Given the description of an element on the screen output the (x, y) to click on. 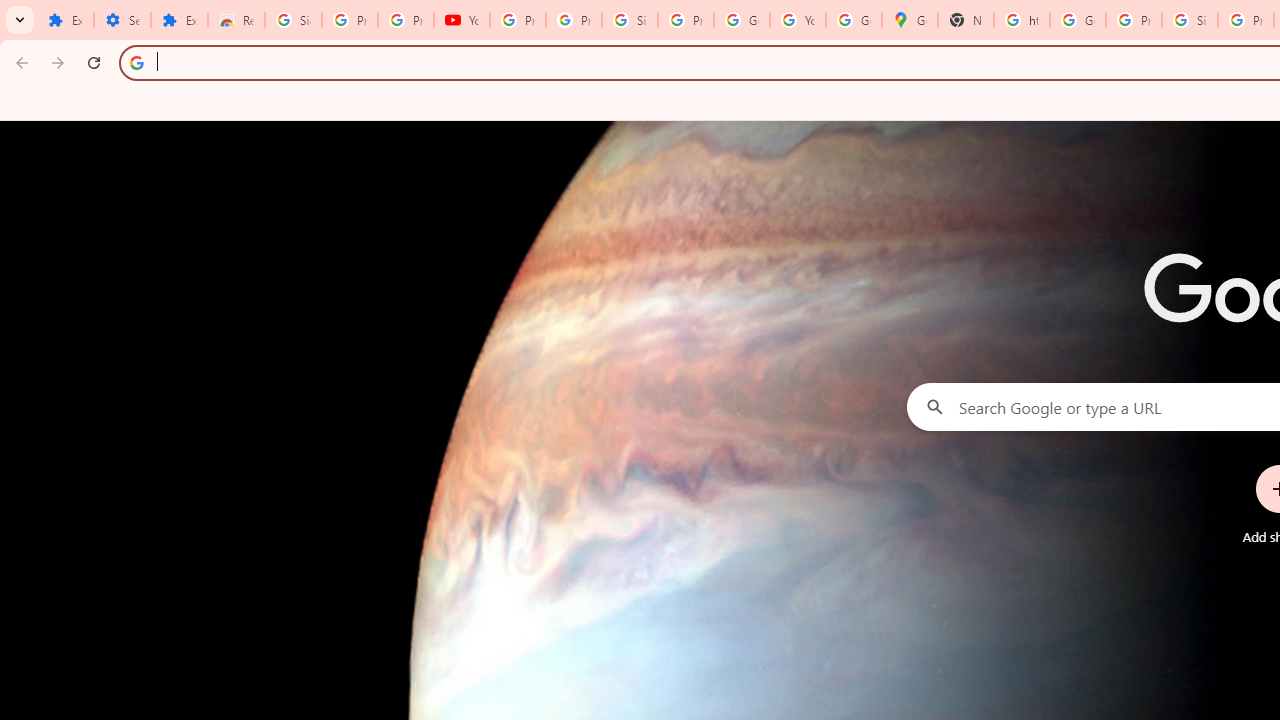
https://scholar.google.com/ (1021, 20)
Extensions (179, 20)
Google Account (742, 20)
New Tab (966, 20)
Reviews: Helix Fruit Jump Arcade Game (235, 20)
Extensions (65, 20)
